Given the description of an element on the screen output the (x, y) to click on. 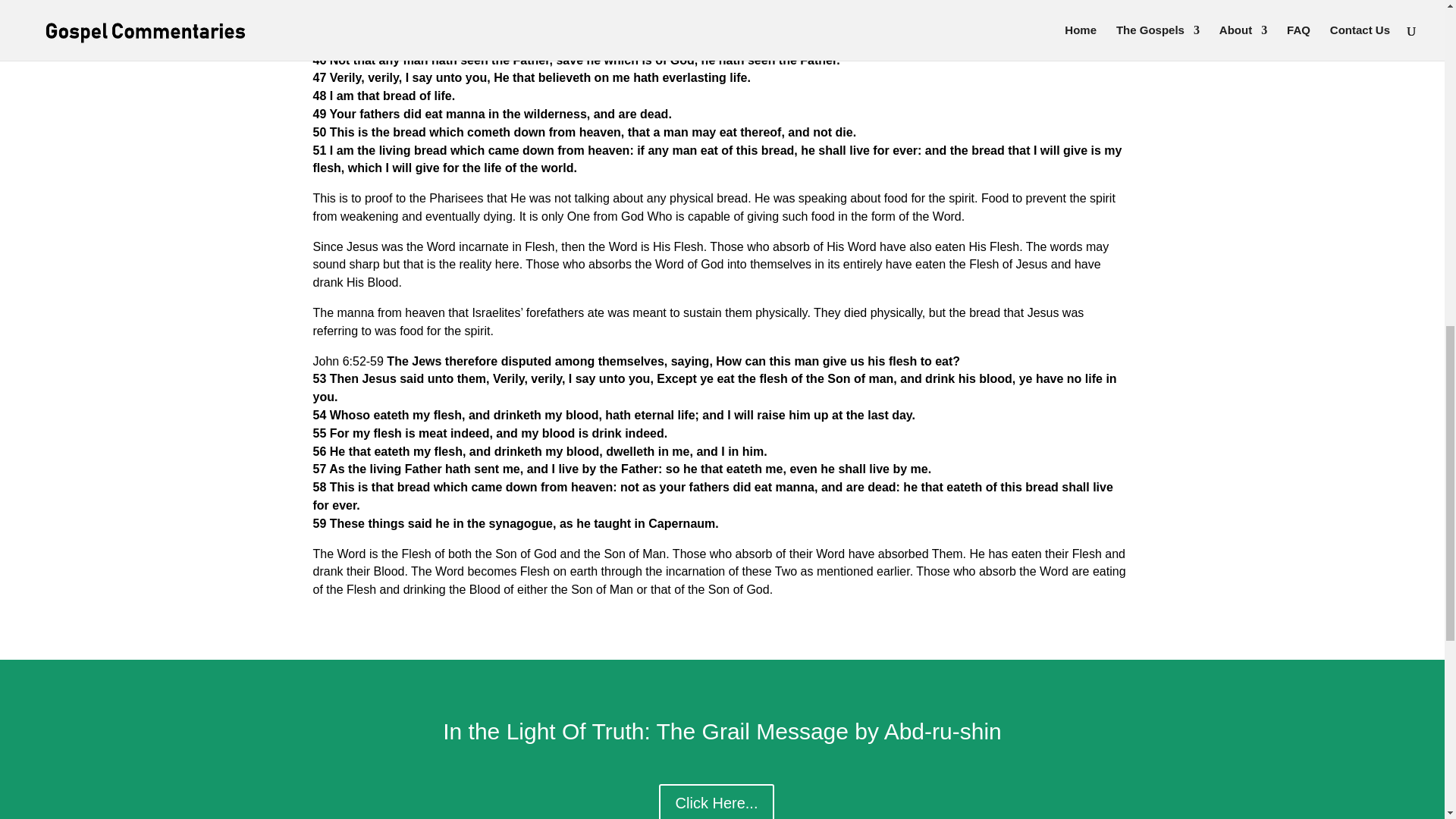
Click Here... (716, 801)
